Given the description of an element on the screen output the (x, y) to click on. 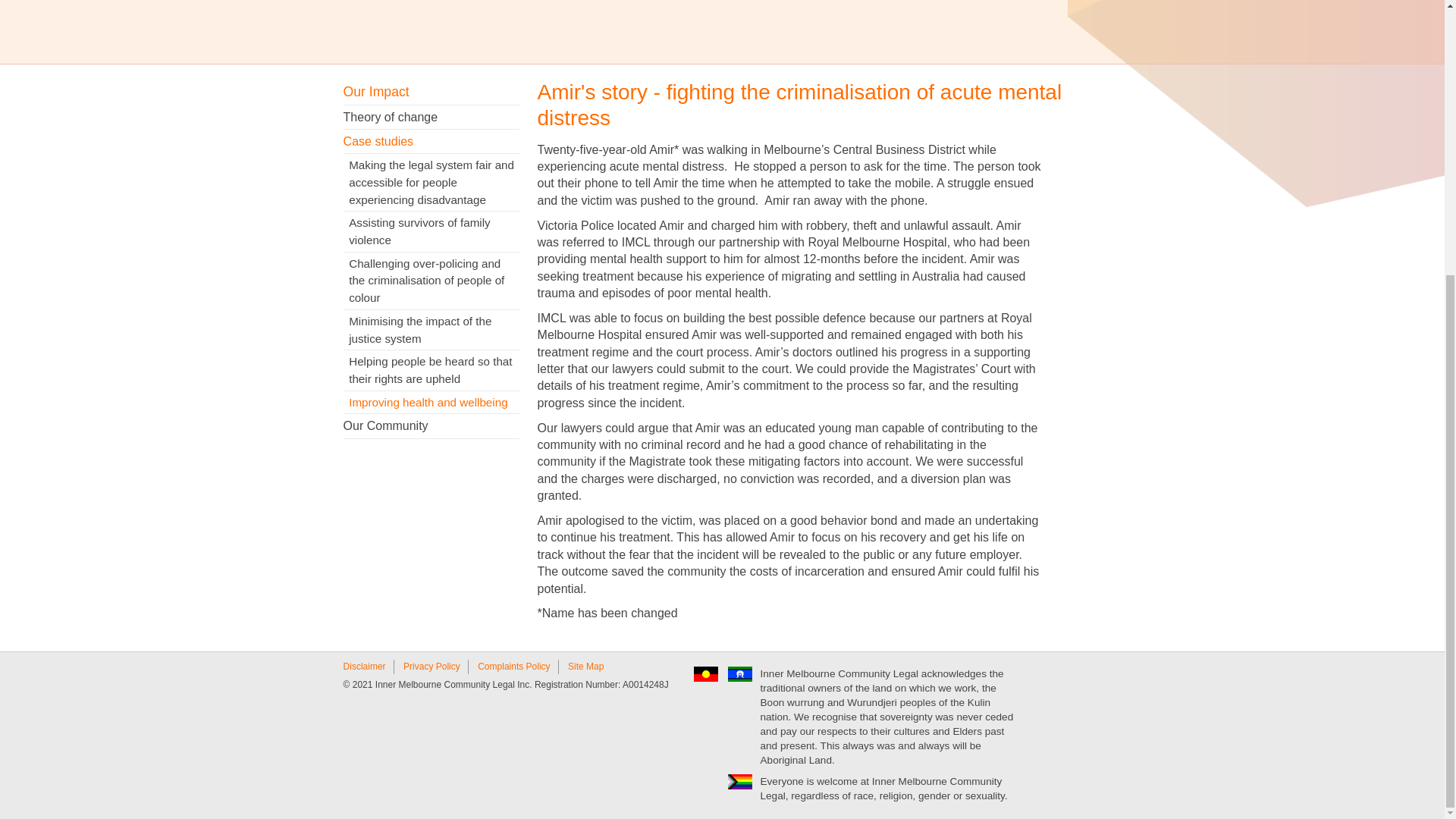
Minimising the impact of the justice system (431, 330)
Assisting survivors of family violence (431, 231)
Theory of change (431, 117)
Improving health and wellbeing (431, 402)
Our Community (431, 426)
Case studies (431, 141)
Our Impact (431, 90)
Helping people be heard so that their rights are upheld (431, 370)
